Given the description of an element on the screen output the (x, y) to click on. 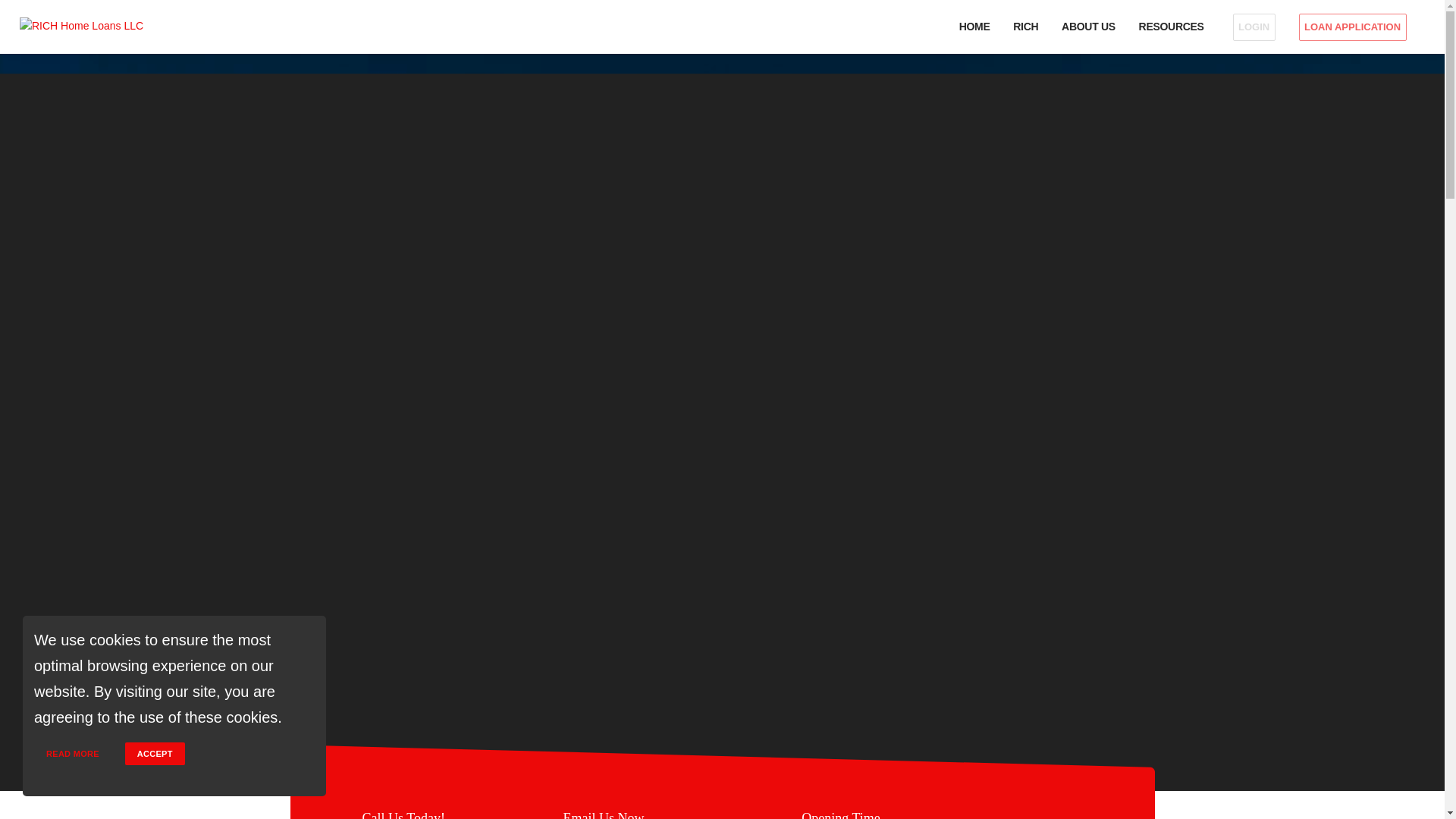
ABOUT US (1088, 27)
LOGIN (1253, 27)
LOGIN (1254, 26)
HOME (974, 27)
LOAN APPLICATION (1356, 27)
LOAN APPLICATION (1352, 26)
RESOURCES   (1173, 27)
